Given the description of an element on the screen output the (x, y) to click on. 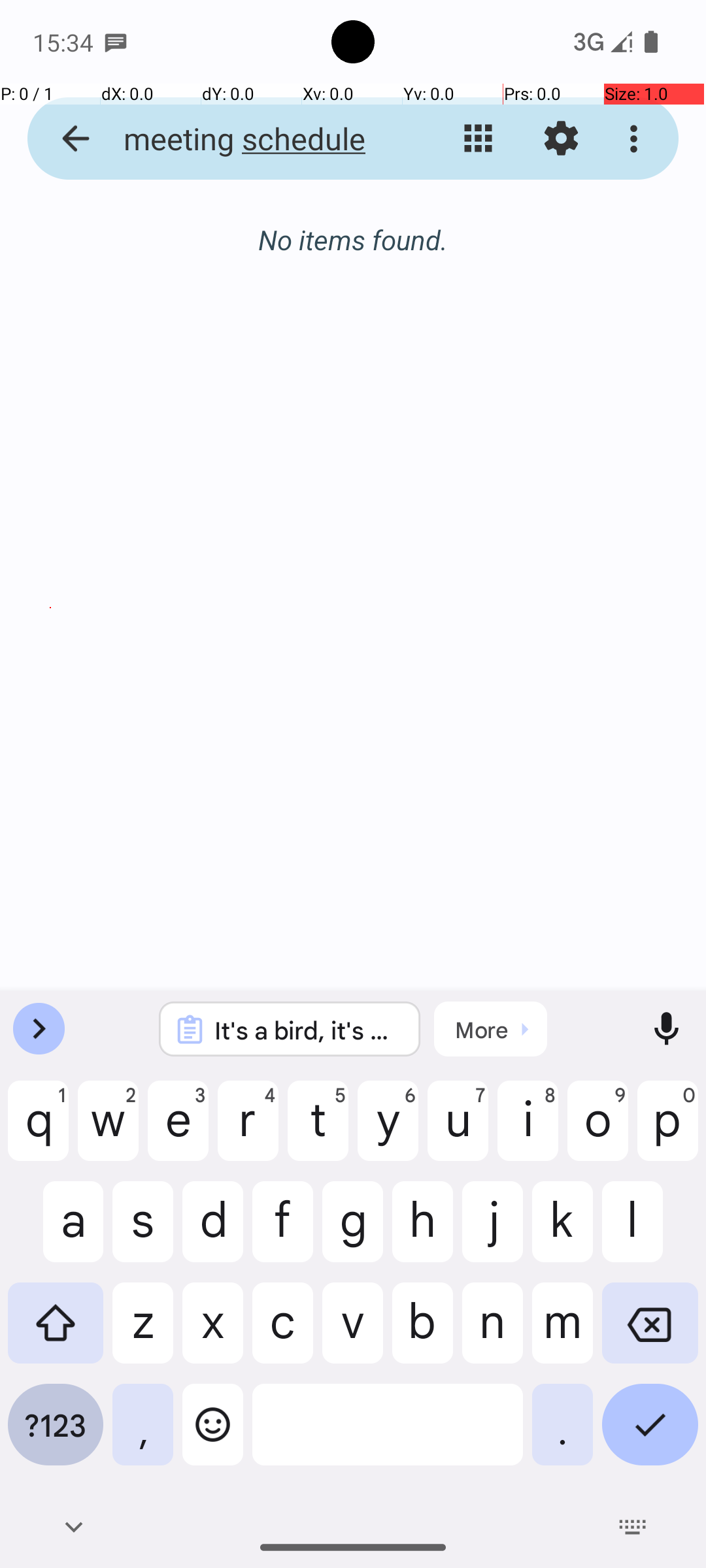
meeting schedule Element type: android.widget.EditText (252, 138)
It's a bird, it's a plane. Element type: android.widget.TextView (306, 1029)
